Given the description of an element on the screen output the (x, y) to click on. 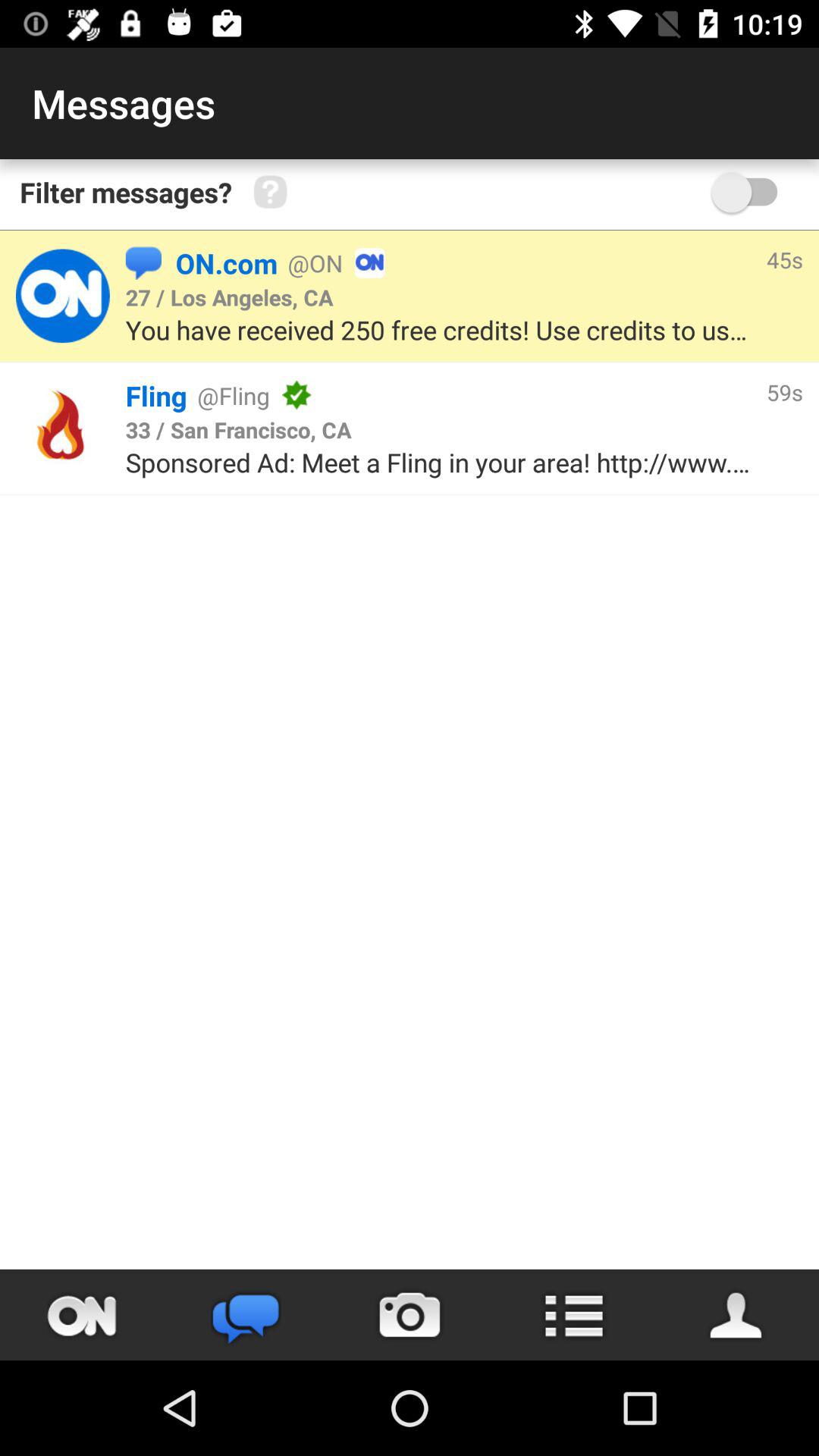
turn off item above the 33 san francisco item (531, 395)
